Given the description of an element on the screen output the (x, y) to click on. 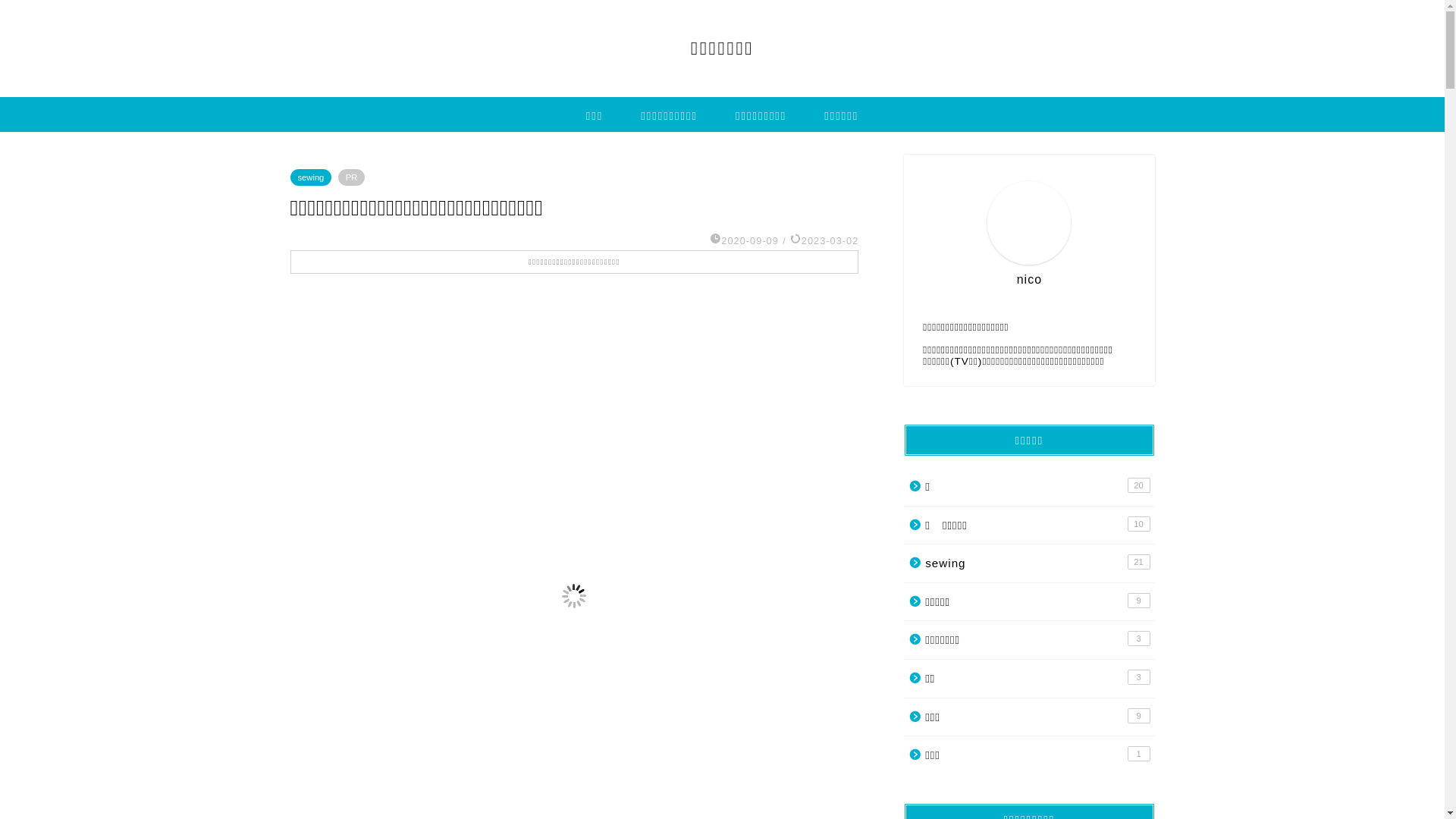
sewing Element type: text (310, 177)
sewing
21 Element type: text (1027, 563)
